Given the description of an element on the screen output the (x, y) to click on. 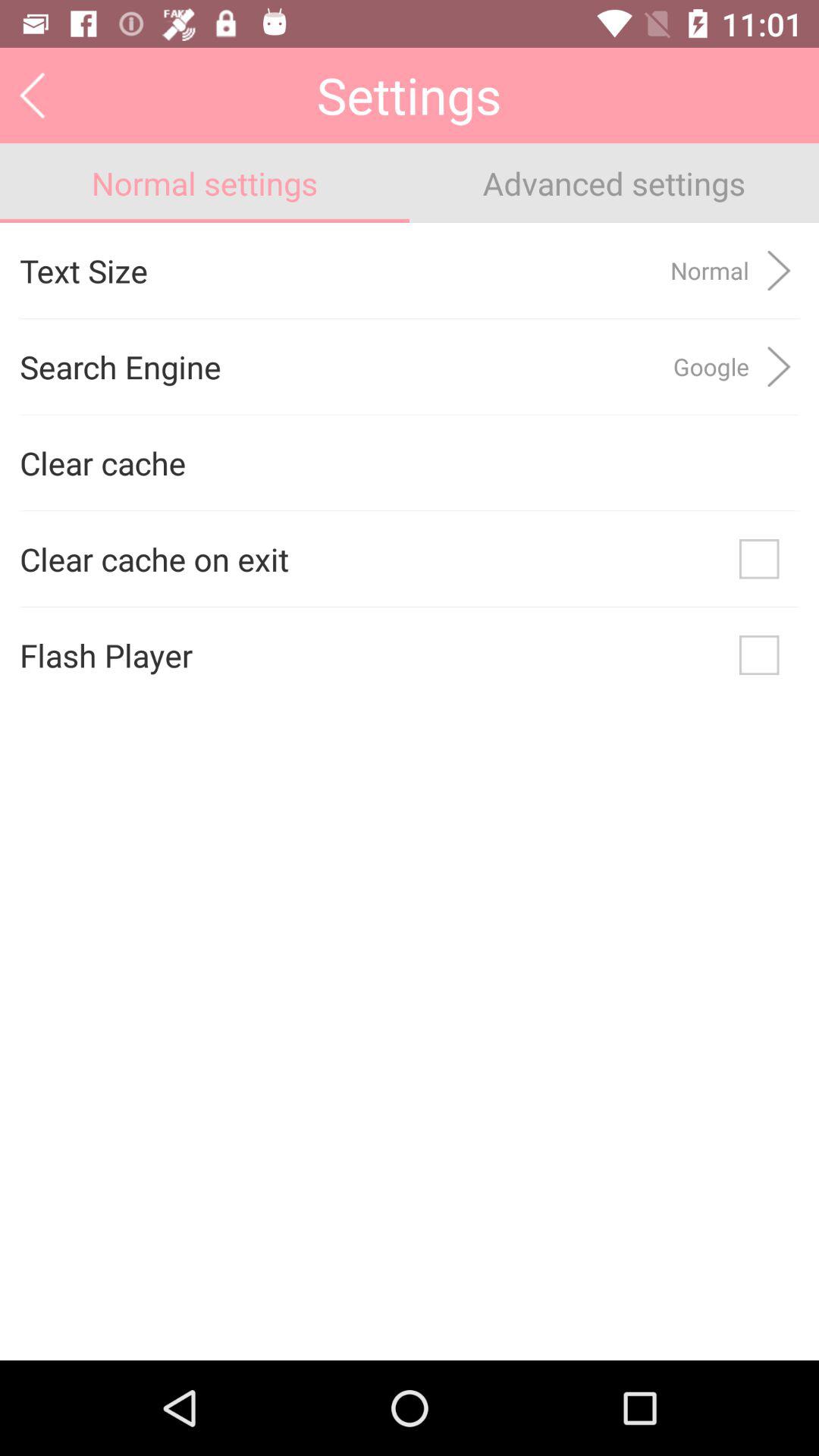
turn off app to the left of the settings app (31, 95)
